Given the description of an element on the screen output the (x, y) to click on. 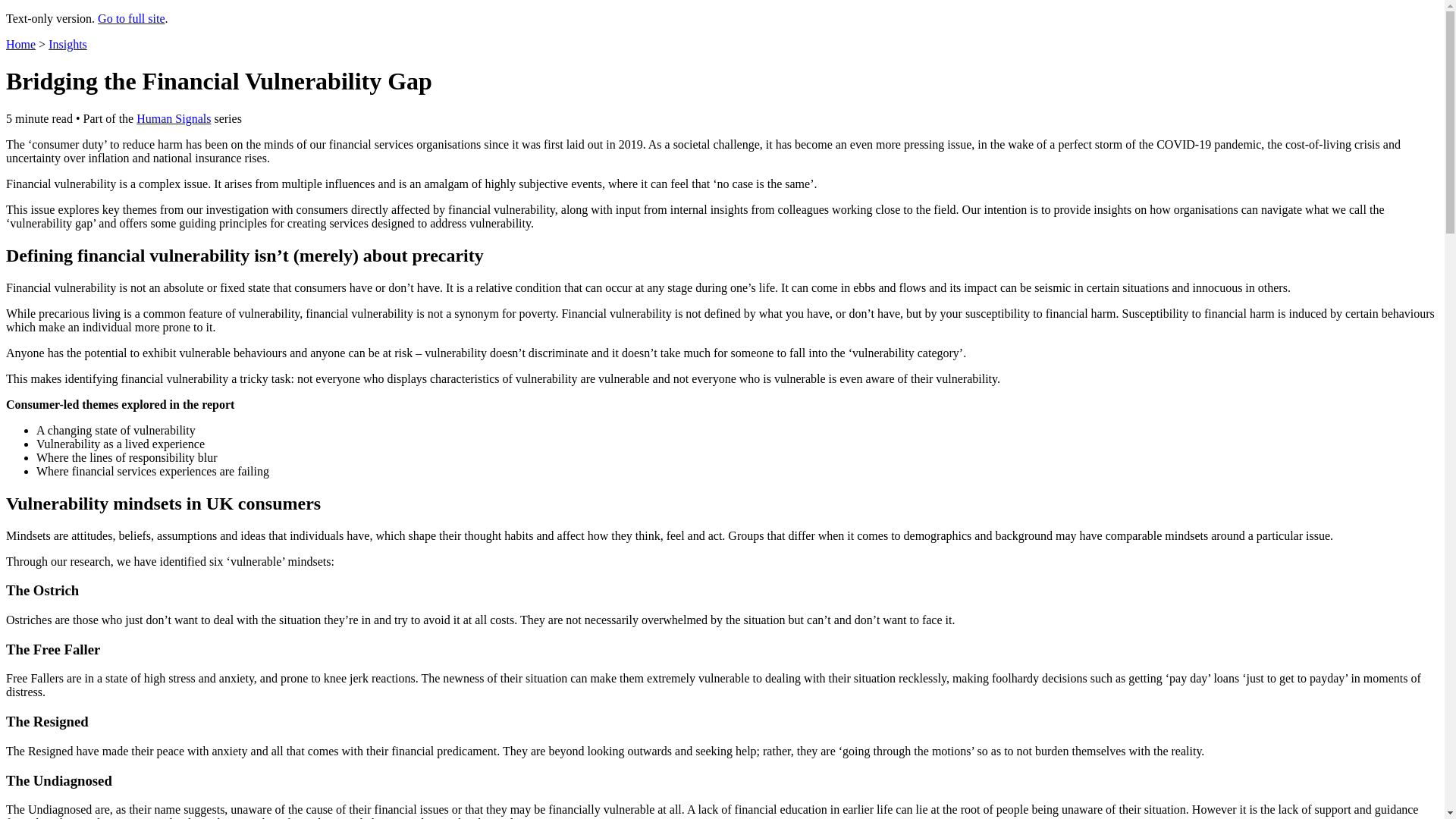
Home (19, 43)
Go to full site (130, 18)
Human Signals (173, 118)
Insights (67, 43)
